Given the description of an element on the screen output the (x, y) to click on. 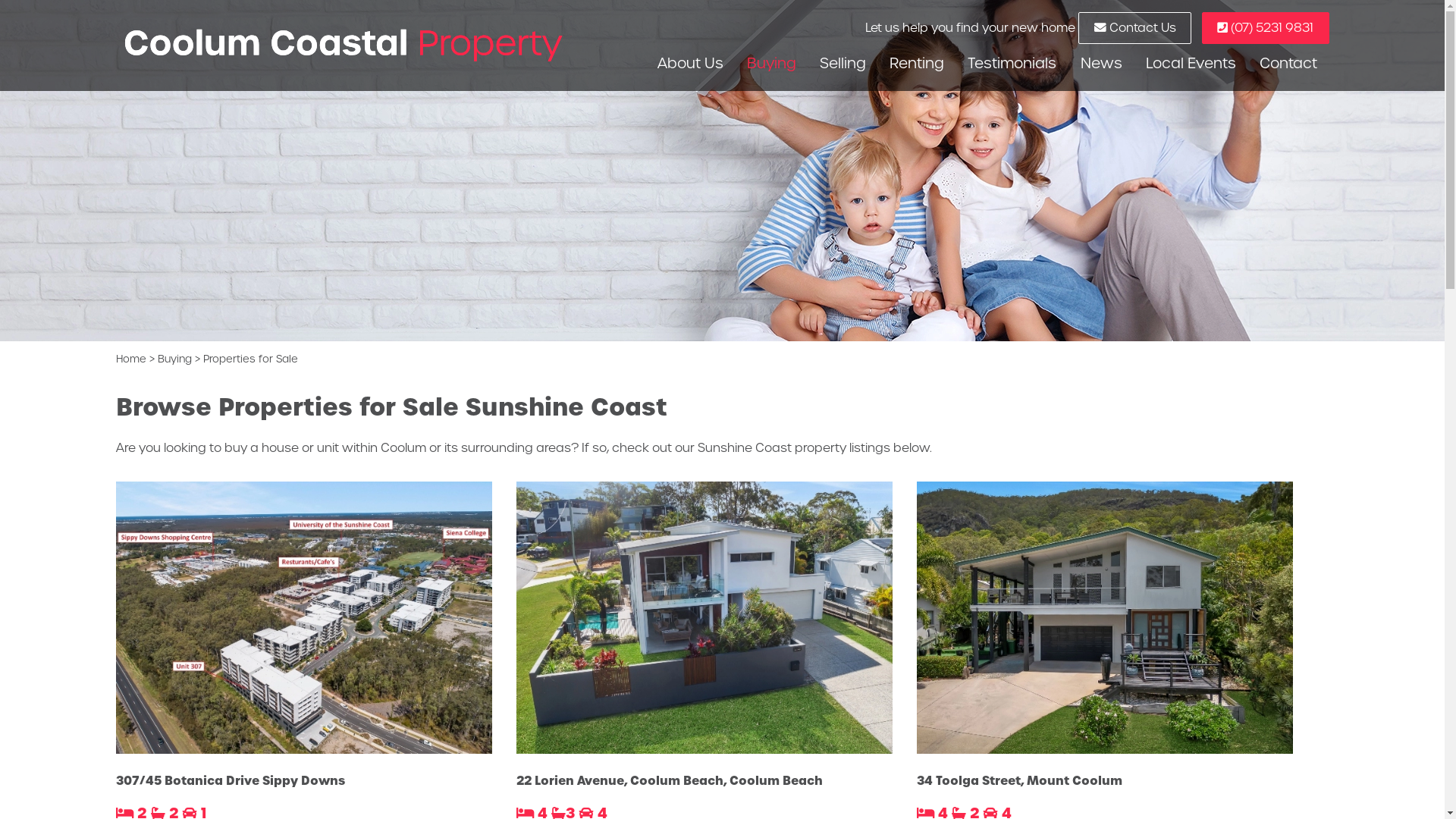
Contact Element type: text (1288, 62)
Buying Element type: text (771, 62)
News Element type: text (1101, 62)
Coolum Coastal Property Element type: hover (342, 44)
Local Events Element type: text (1190, 62)
Testimonials Element type: text (1011, 62)
Buying Element type: text (174, 358)
Renting Element type: text (916, 62)
Selling Element type: text (842, 62)
(07) 5231 9831 Element type: text (1264, 28)
Contact Us Element type: text (1134, 28)
About Us Element type: text (690, 62)
Home Element type: text (130, 358)
